Given the description of an element on the screen output the (x, y) to click on. 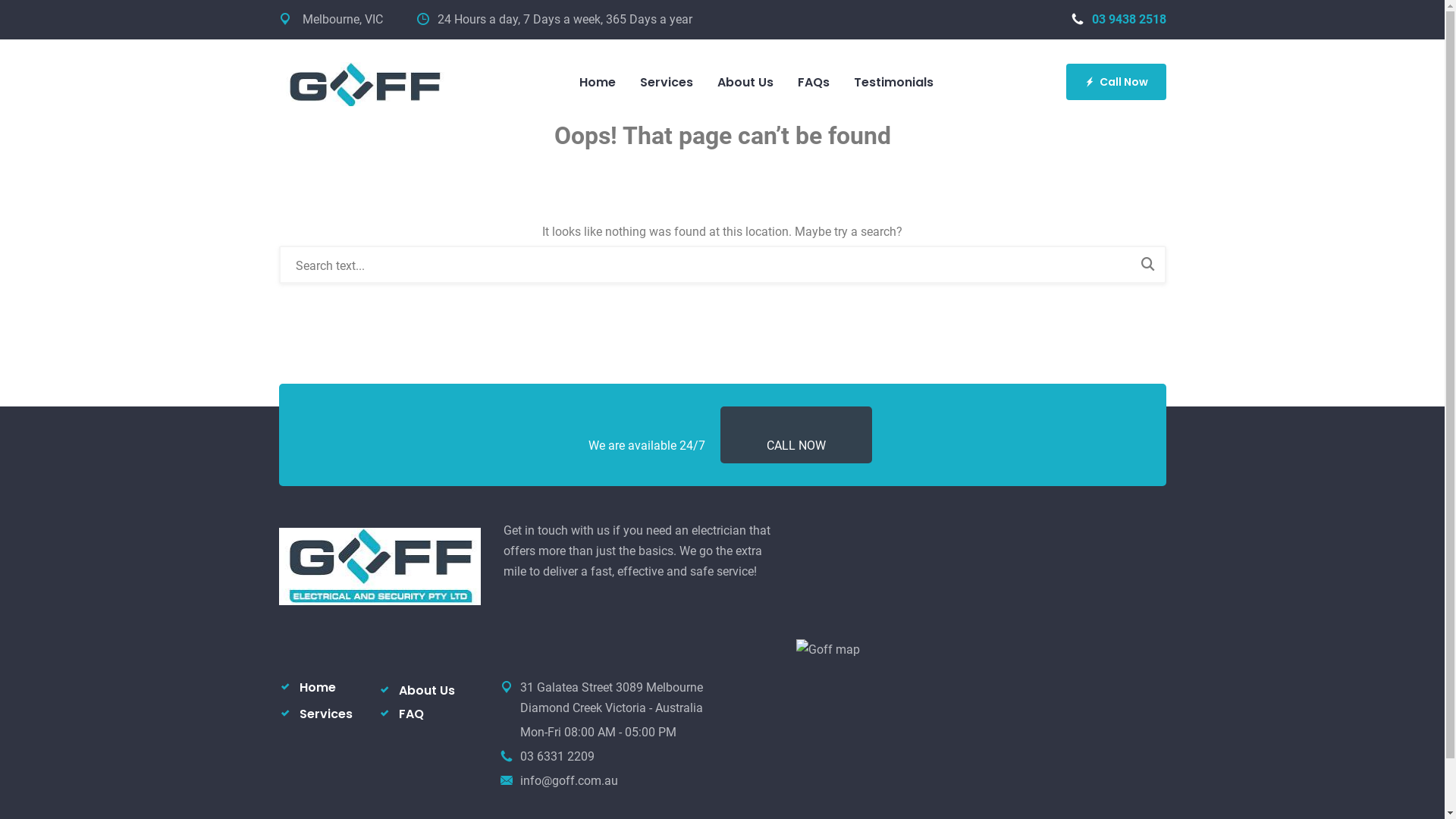
Call Now Element type: text (1116, 81)
03 9438 2518 Element type: text (1117, 19)
About Us Element type: text (426, 690)
Home Element type: text (597, 82)
Testimonials Element type: text (893, 82)
Home Element type: text (316, 687)
FAQ Element type: text (410, 713)
03 6331 2209 Element type: text (557, 756)
info@goff.com.au Element type: text (569, 780)
About Us Element type: text (745, 82)
CALL NOW Element type: text (795, 445)
Services Element type: text (324, 713)
Electrician Element type: text (363, 82)
Services Element type: text (666, 82)
FAQs Element type: text (813, 82)
